Given the description of an element on the screen output the (x, y) to click on. 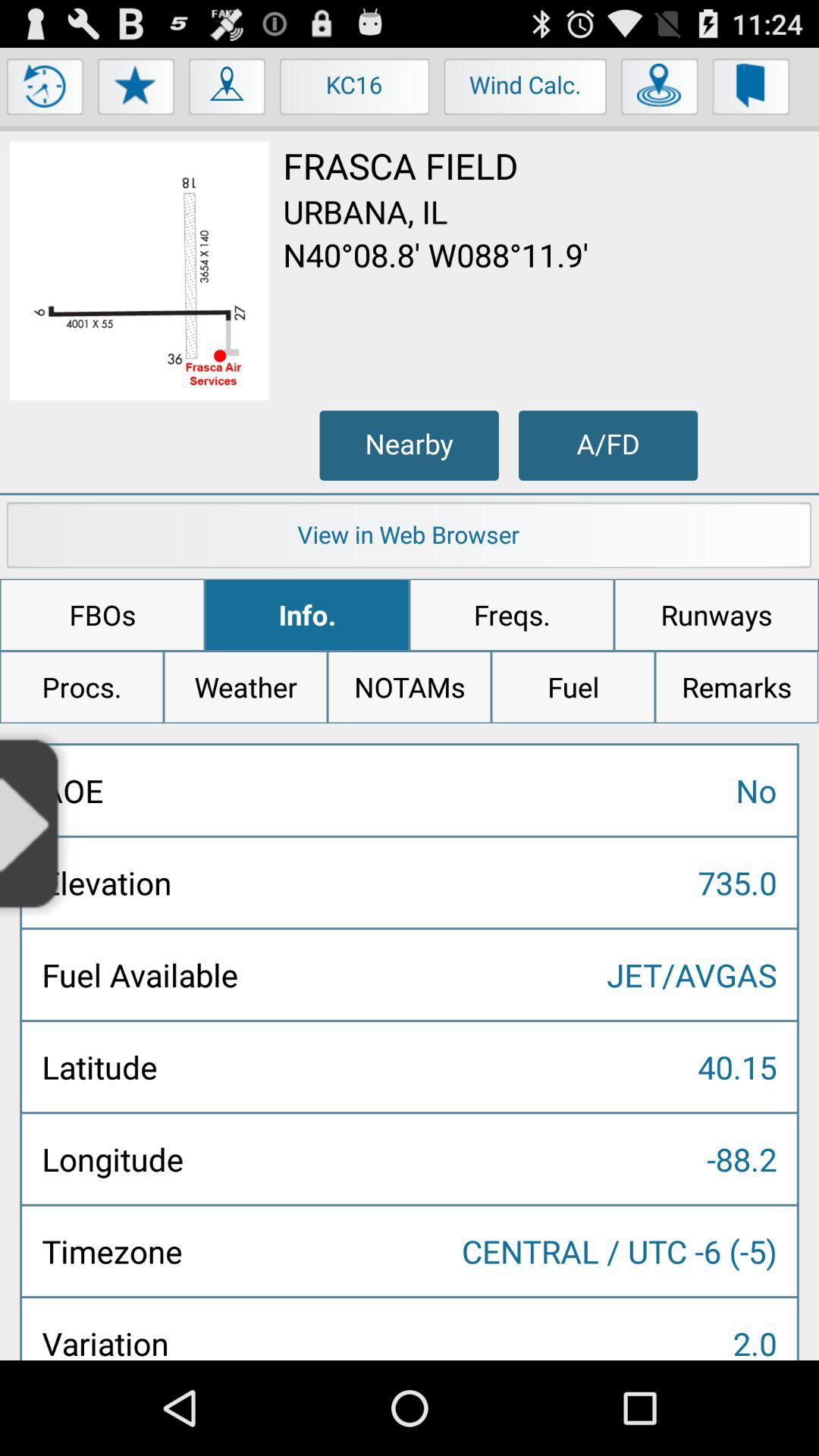
press the button next to the wind calc. icon (355, 90)
